Given the description of an element on the screen output the (x, y) to click on. 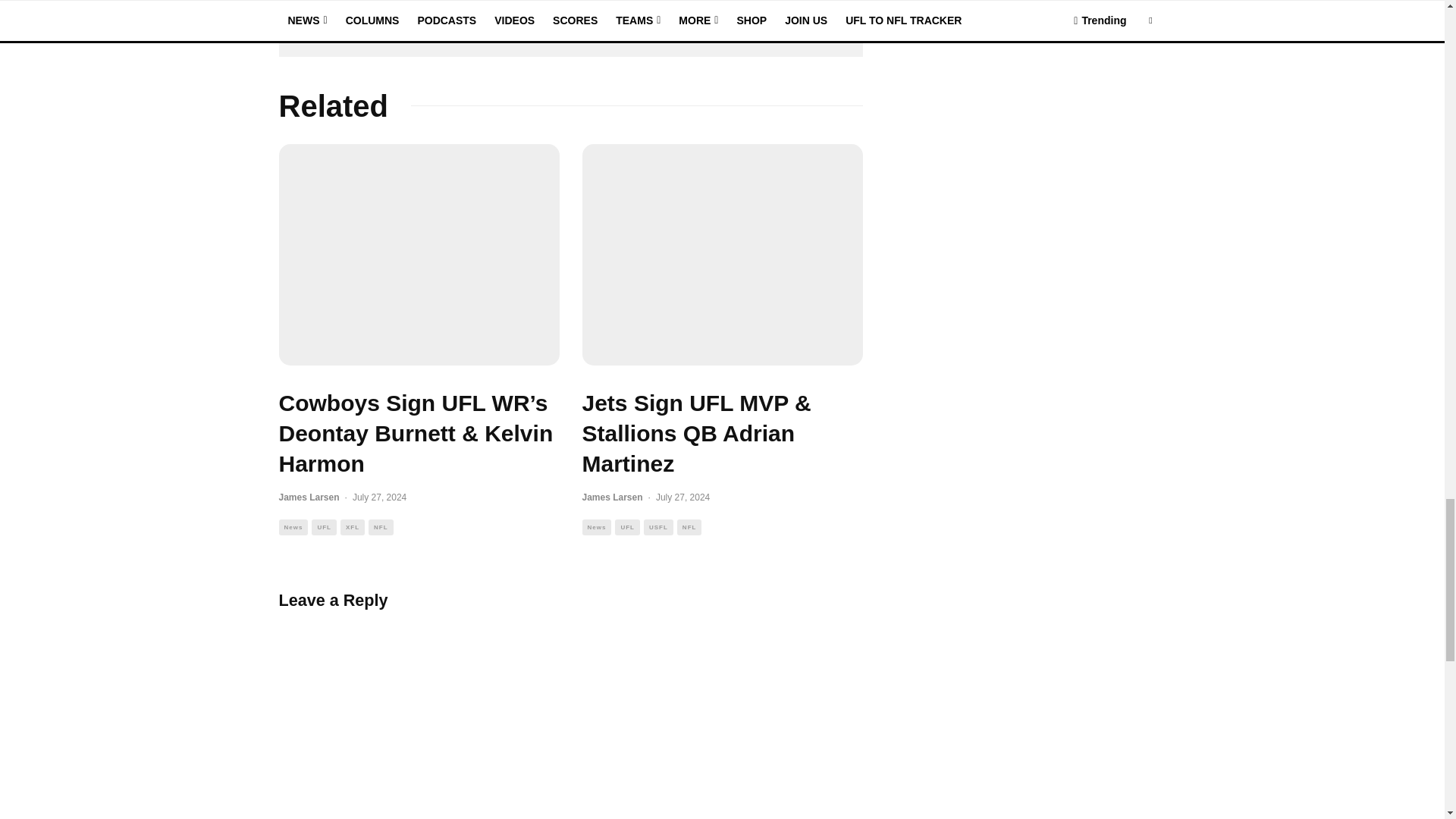
Posts by James Larsen (309, 497)
Comment Form (571, 714)
Posts by James Larsen (612, 497)
